Given the description of an element on the screen output the (x, y) to click on. 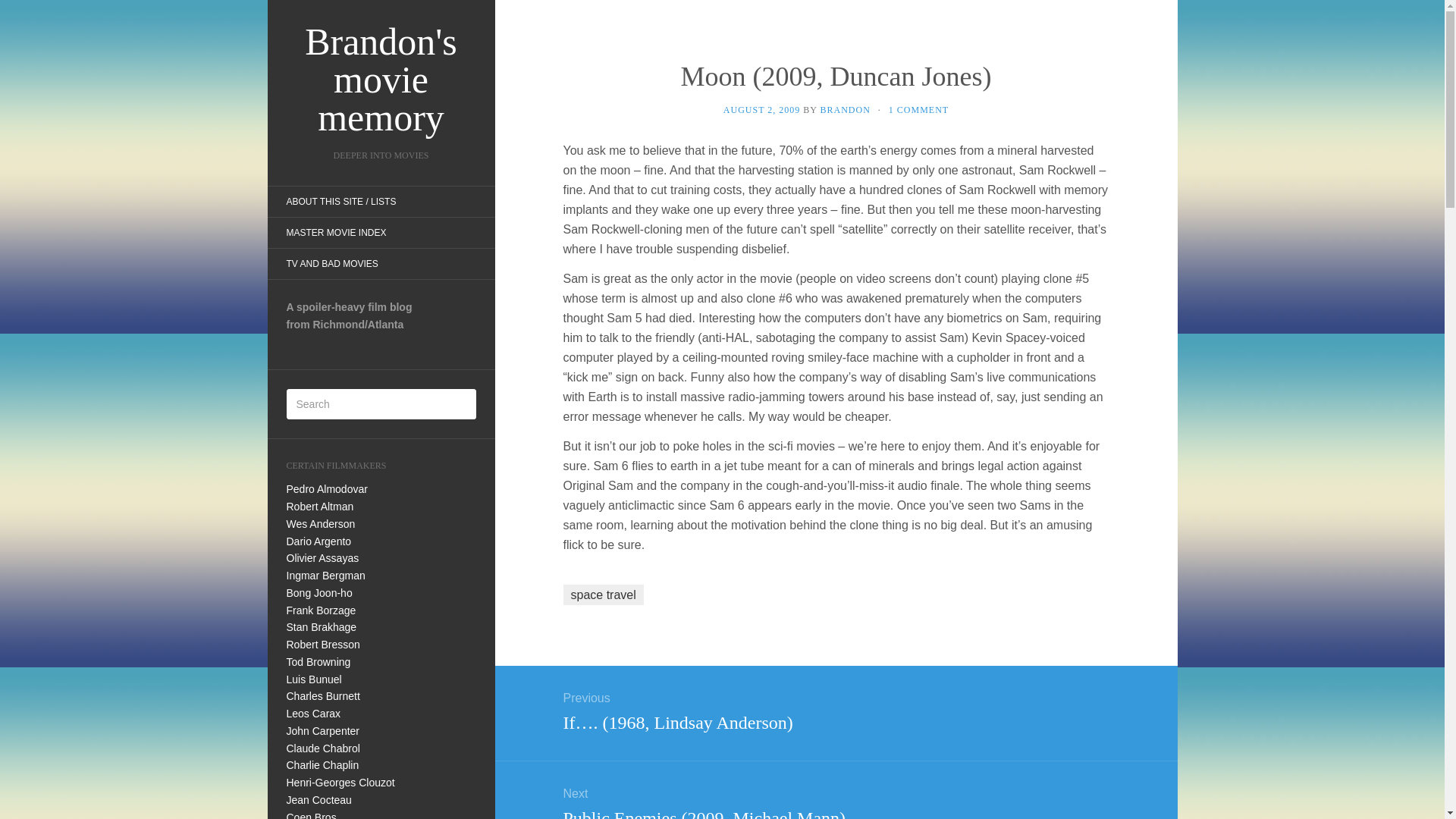
Olivier Assayas (322, 558)
Charles Burnett (322, 695)
Jean Cocteau (319, 799)
Tod Browning (318, 662)
Claude Chabrol (322, 747)
Brandon's movie memory (380, 79)
Stan Brakhage (321, 626)
MASTER MOVIE INDEX (335, 232)
Bong Joon-ho (319, 592)
Robert Altman (319, 506)
John Carpenter (322, 730)
Robert Bresson (322, 644)
Wes Anderson (320, 523)
Coen Bros. (312, 815)
Frank Borzage (321, 609)
